Given the description of an element on the screen output the (x, y) to click on. 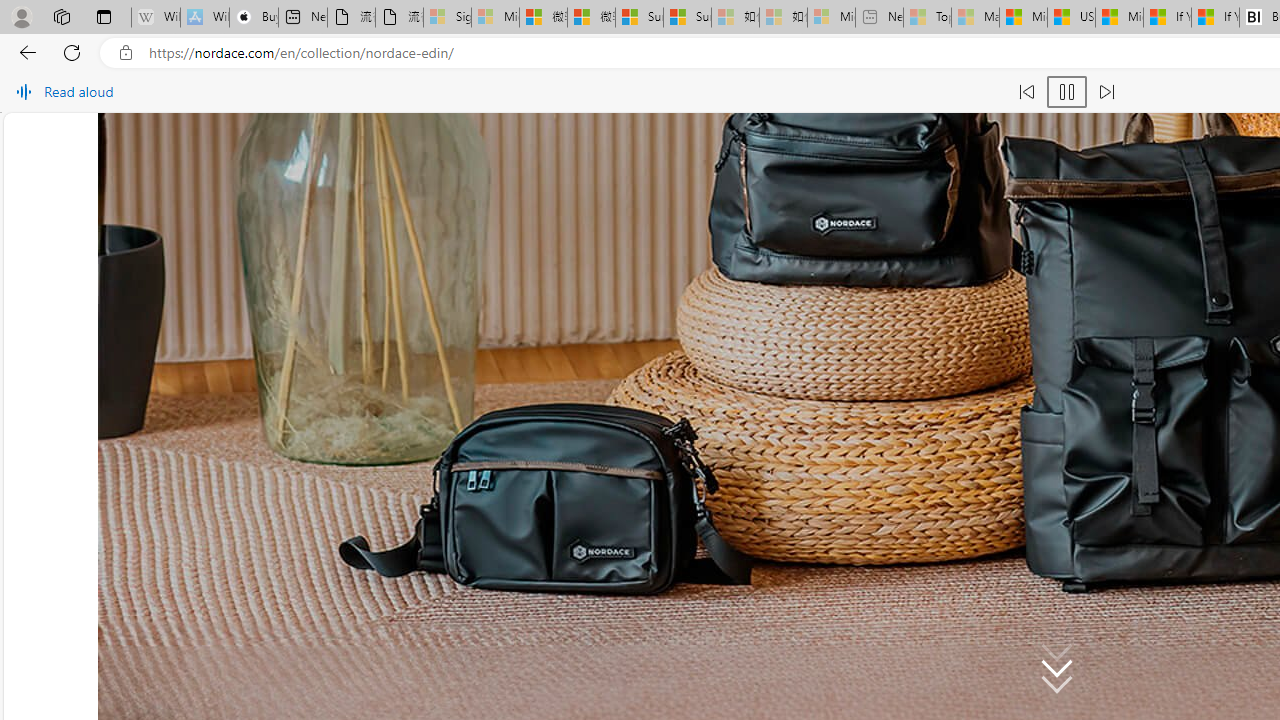
Marine life - MSN - Sleeping (975, 17)
Read previous paragraph (1026, 92)
